Given the description of an element on the screen output the (x, y) to click on. 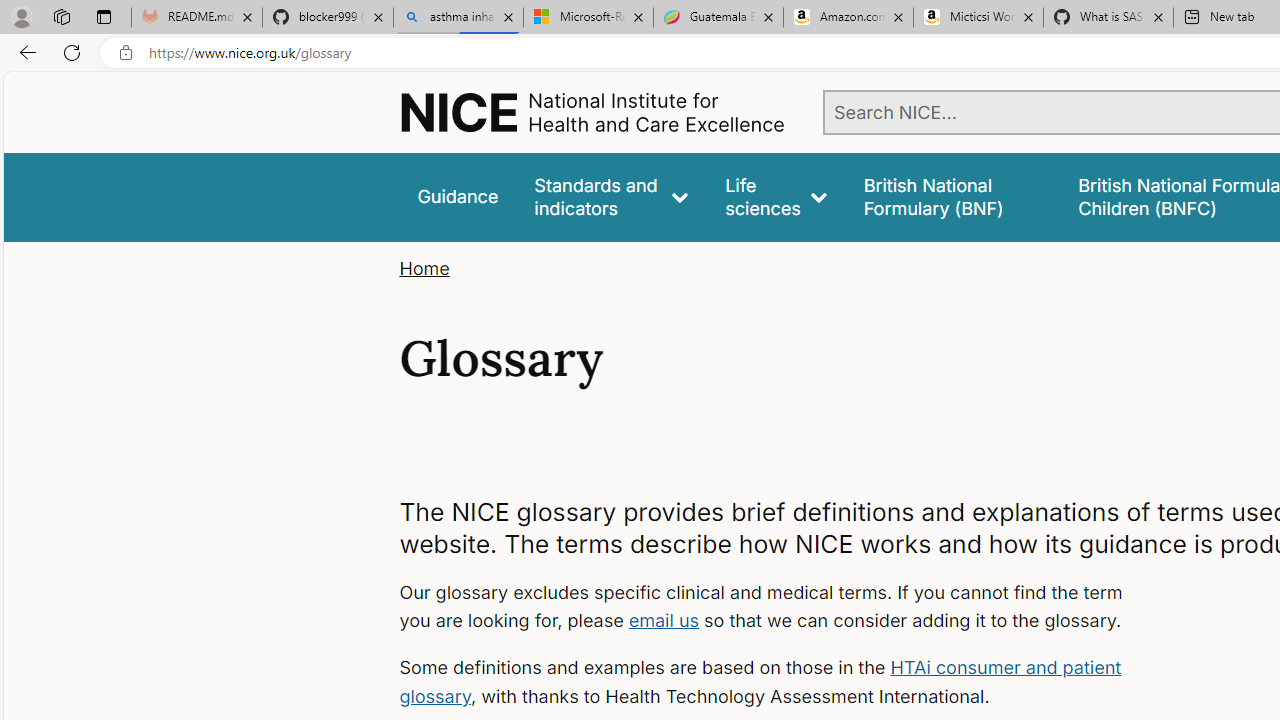
asthma inhaler - Search (458, 17)
false (952, 196)
